Given the description of an element on the screen output the (x, y) to click on. 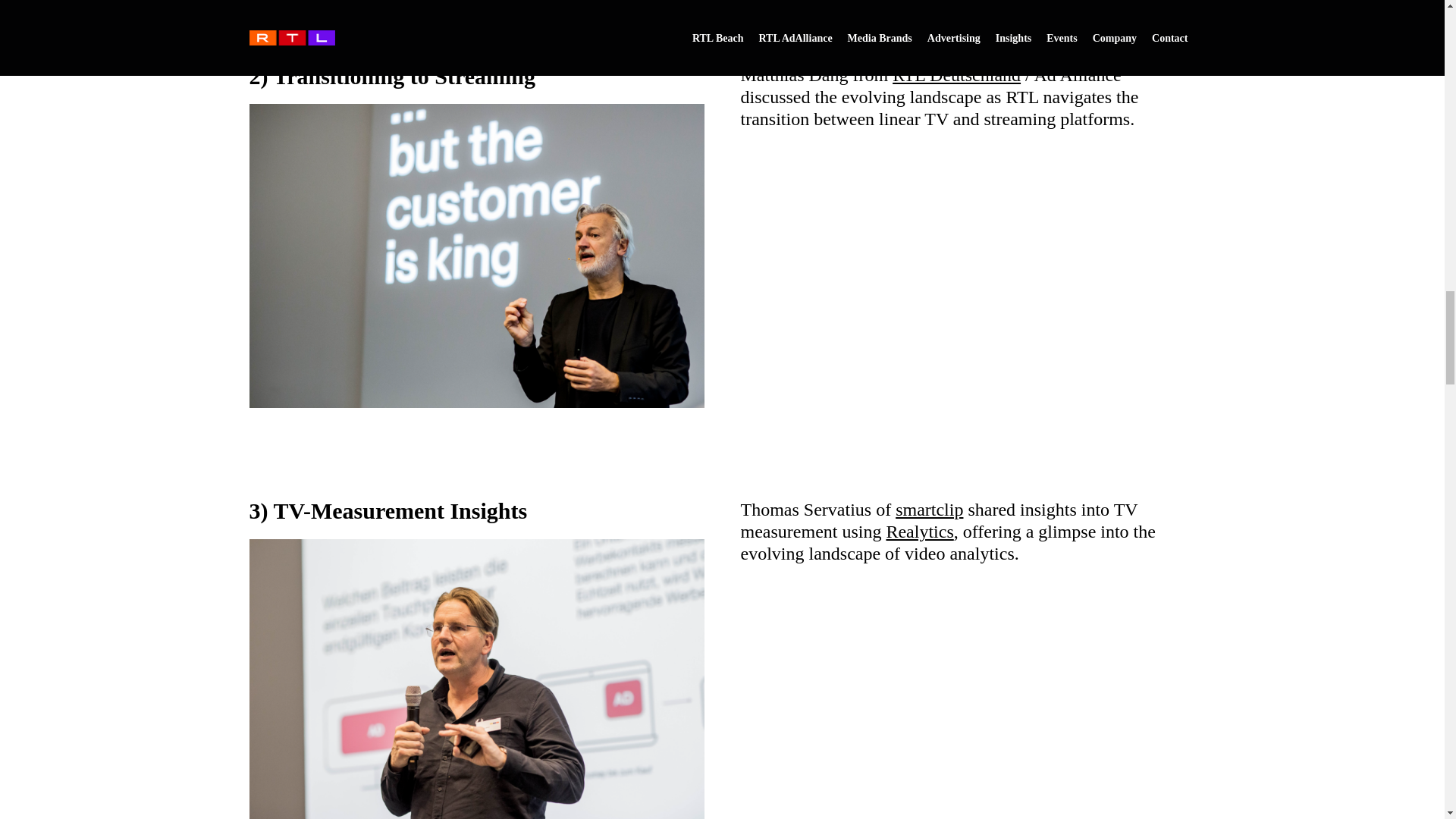
RTL Deutschland (956, 75)
smartclip (928, 509)
Realytics (919, 531)
